Given the description of an element on the screen output the (x, y) to click on. 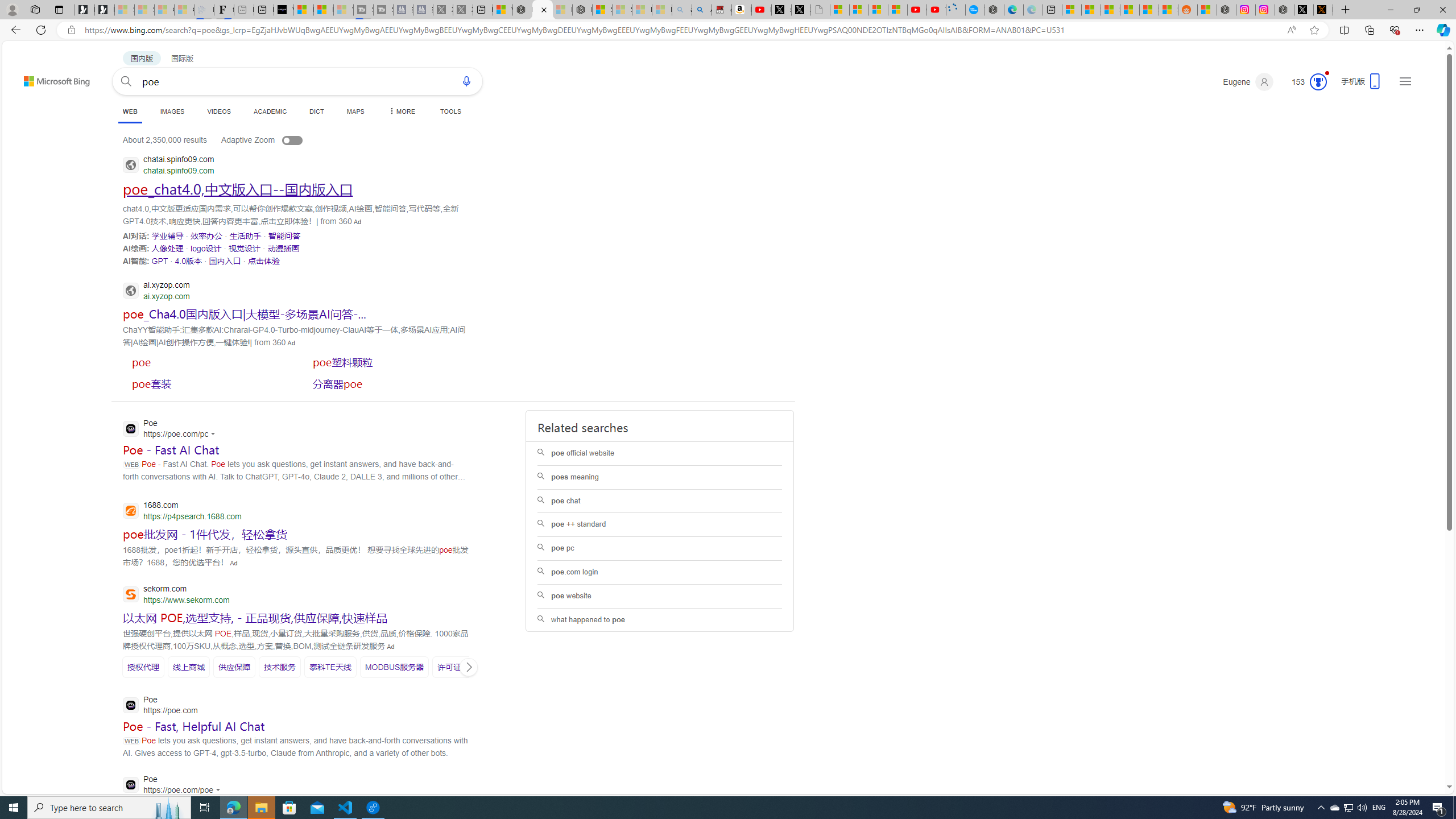
YouTube Kids - An App Created for Kids to Explore Content (935, 9)
X (800, 9)
Add this page to favorites (Ctrl+D) (1314, 29)
SERP,5579 (244, 313)
View site information (70, 29)
SERP,5564 (245, 235)
Gloom - YouTube (916, 9)
Microsoft Start (322, 9)
ACADEMIC (269, 111)
poe website (659, 595)
SERP,5600 (393, 667)
poe - Search (542, 9)
Untitled (820, 9)
Minimize (1390, 9)
